Given the description of an element on the screen output the (x, y) to click on. 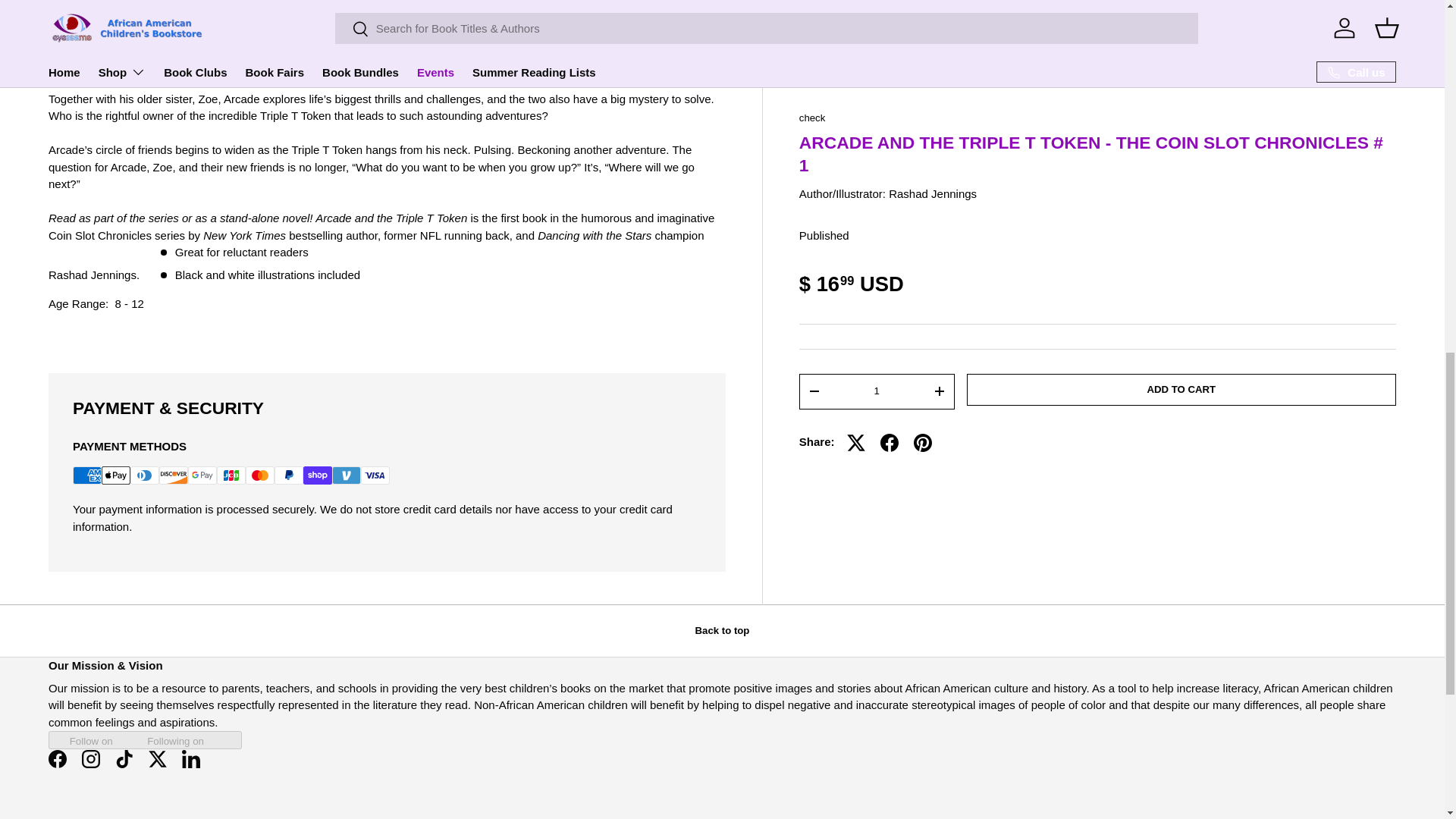
EyeSeeMe  on Twitter (157, 758)
Apple Pay (116, 475)
EyeSeeMe  on Facebook (57, 758)
Diners Club (144, 475)
American Express (86, 475)
EyeSeeMe  on Instagram (90, 758)
EyeSeeMe  on LinkedIn (191, 758)
EyeSeeMe  on TikTok (124, 758)
Discover (172, 475)
